Given the description of an element on the screen output the (x, y) to click on. 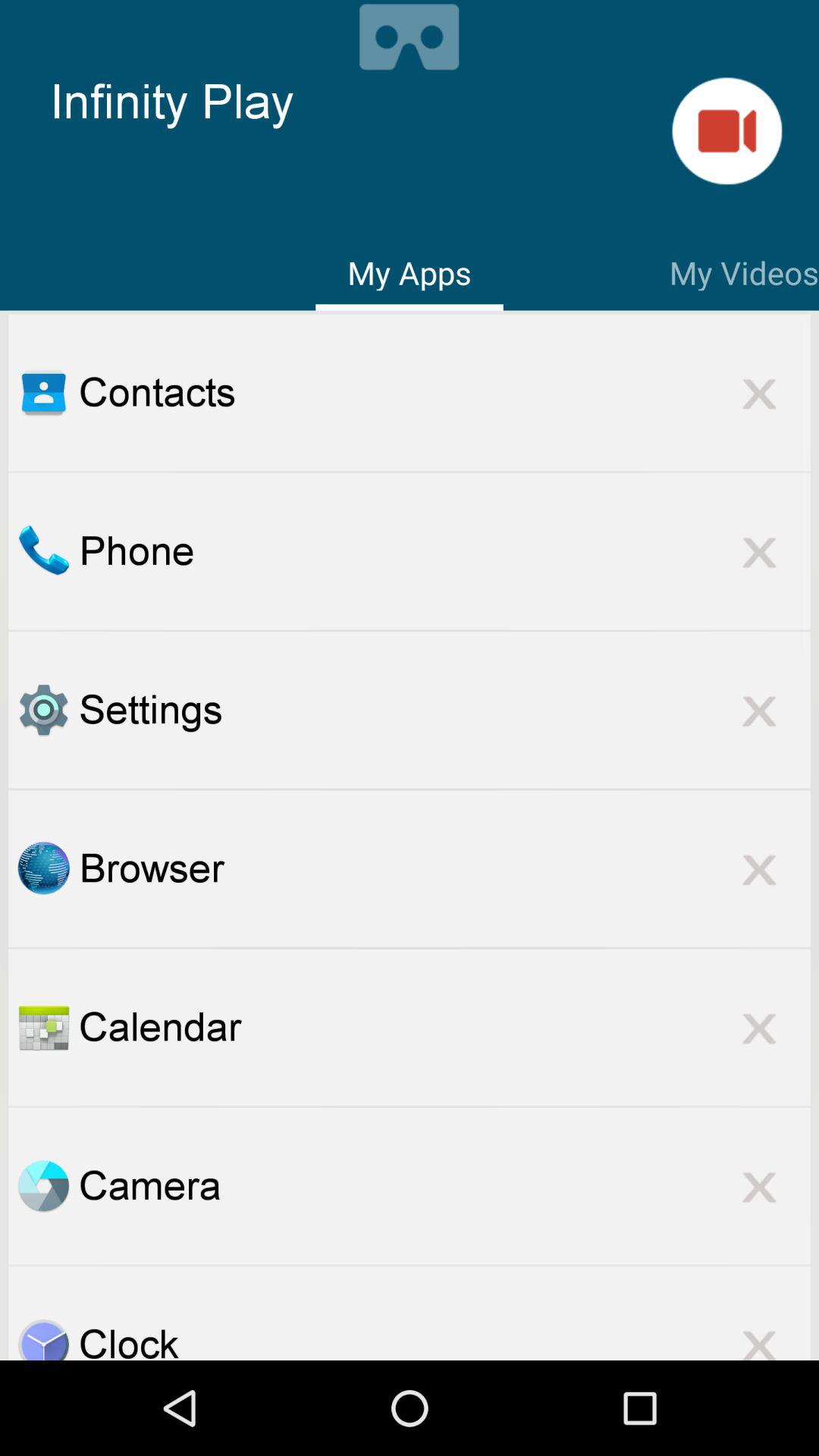
go to contacts (43, 392)
